Given the description of an element on the screen output the (x, y) to click on. 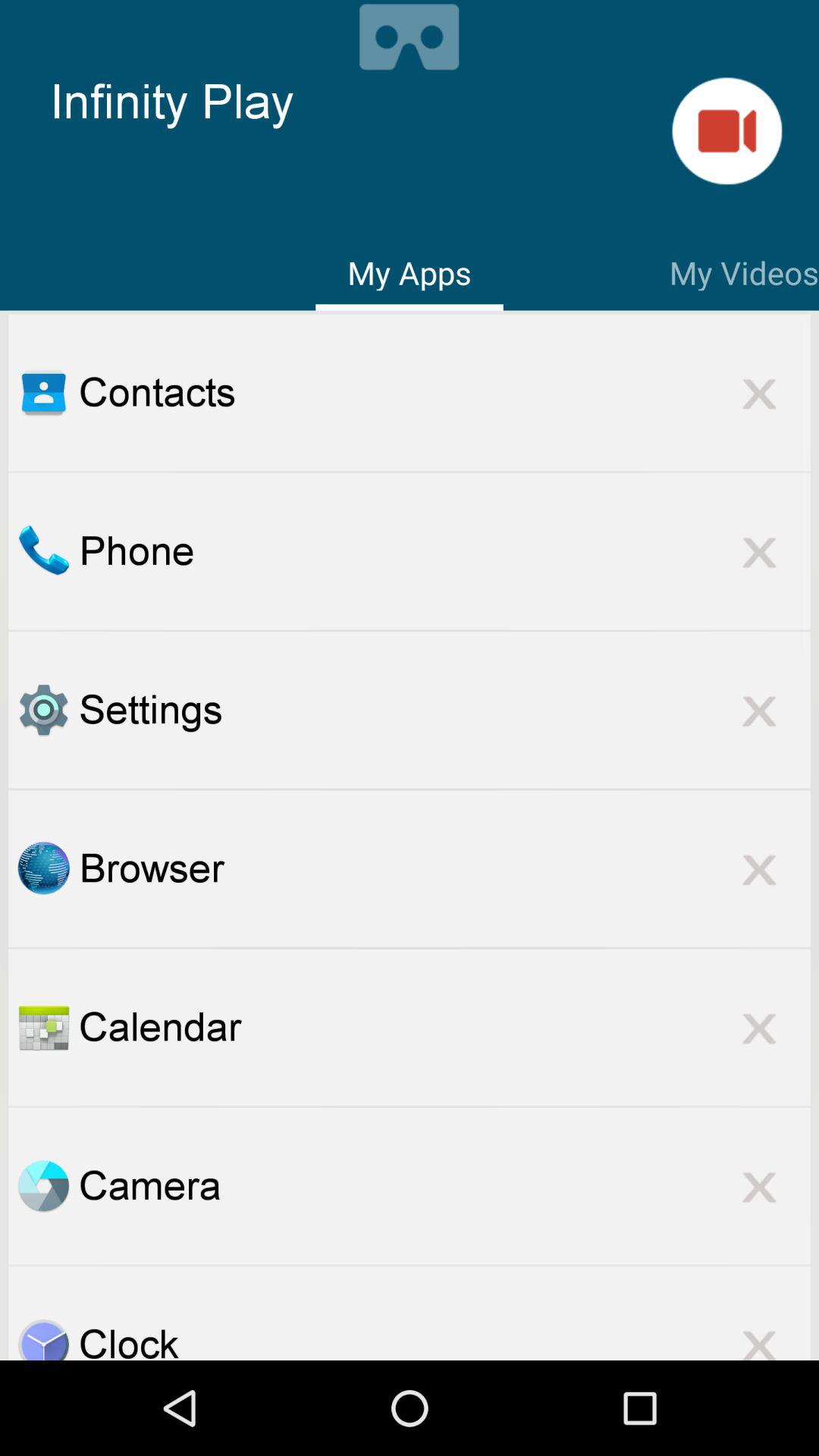
go to contacts (43, 392)
